Given the description of an element on the screen output the (x, y) to click on. 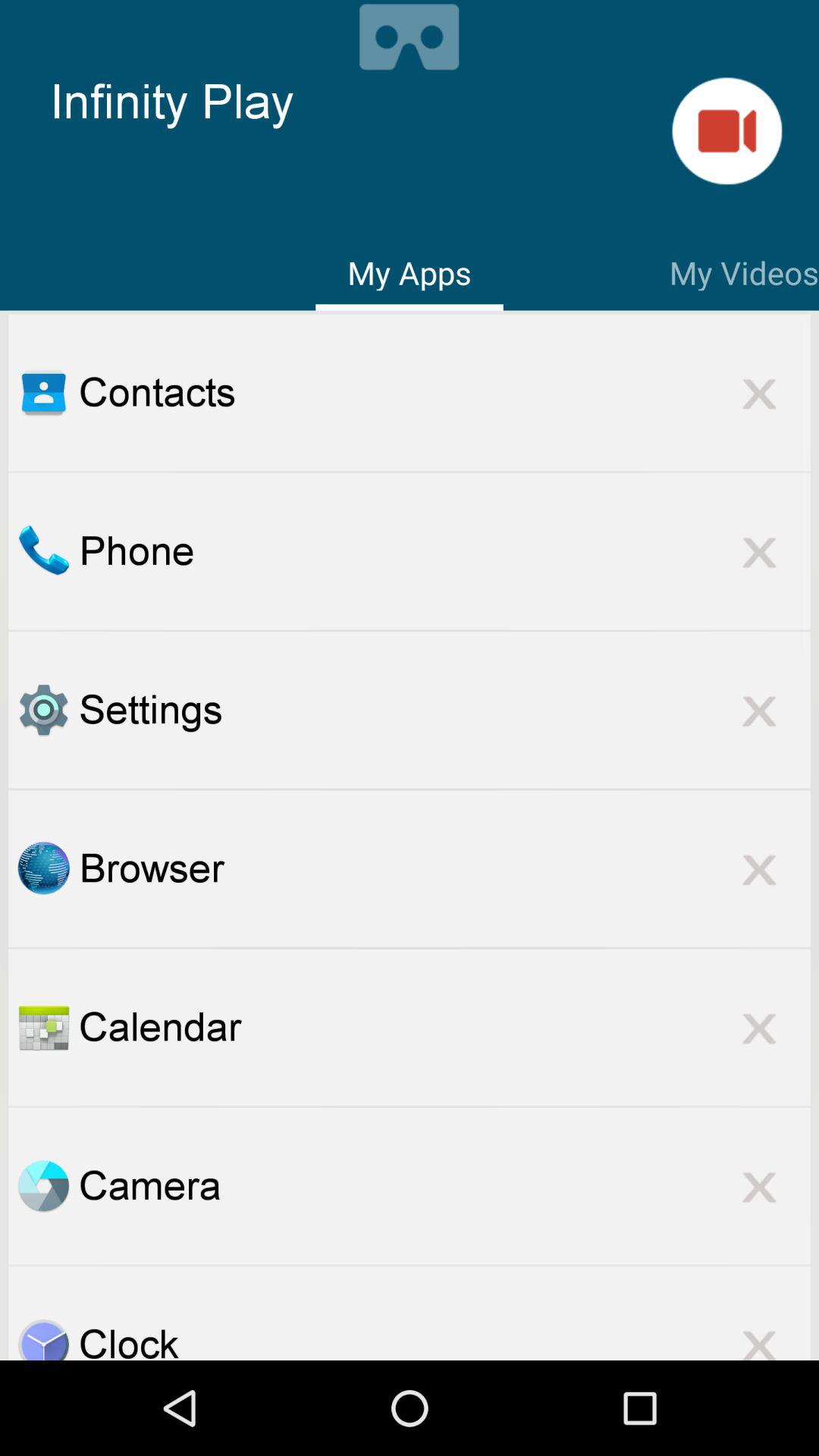
go to contacts (43, 392)
